Given the description of an element on the screen output the (x, y) to click on. 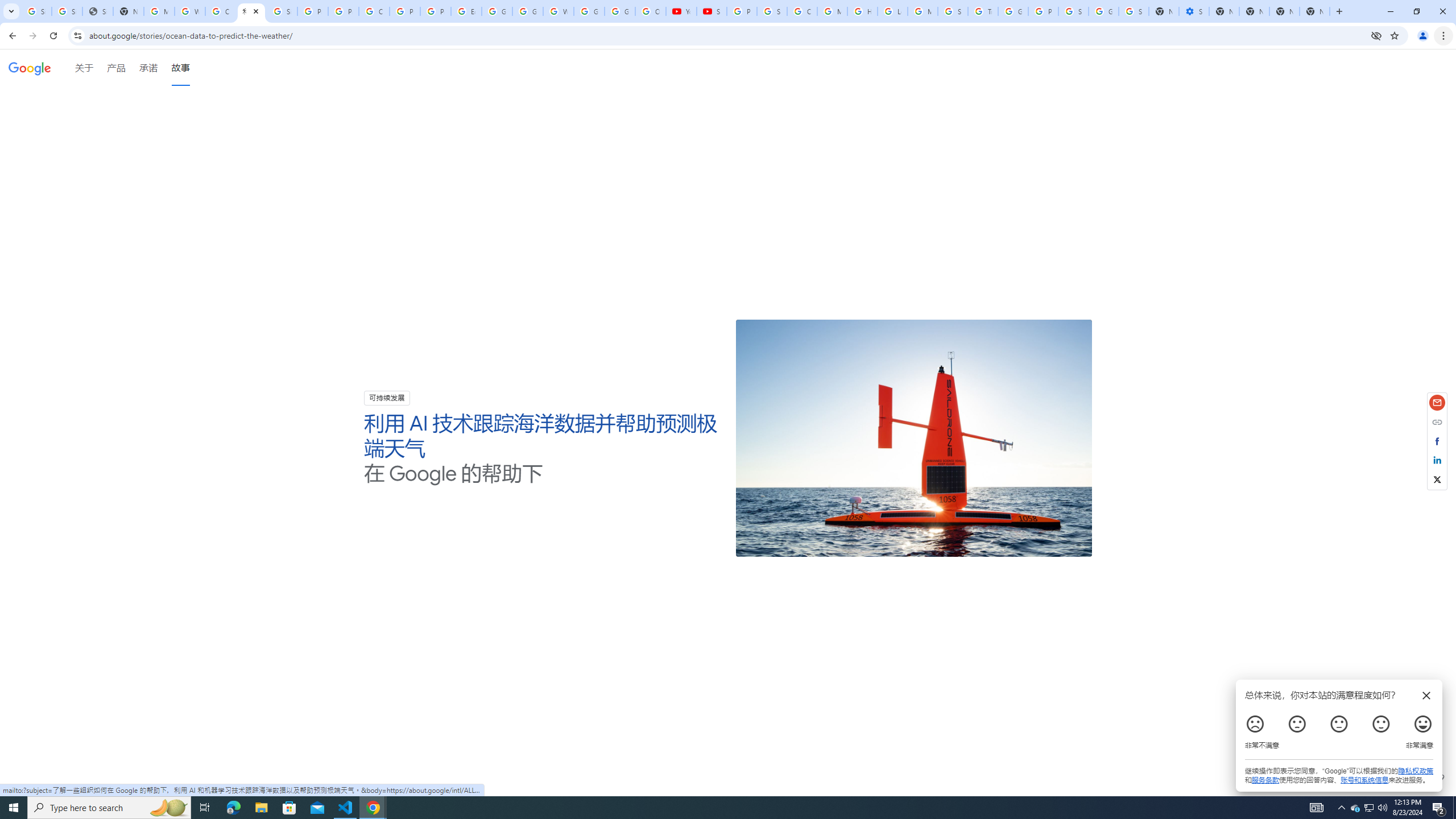
Google Cybersecurity Innovations - Google Safety Center (1103, 11)
Create your Google Account (373, 11)
Google Slides: Sign-in (496, 11)
Search our Doodle Library Collection - Google Doodles (952, 11)
Who is my administrator? - Google Account Help (189, 11)
Settings - Performance (1193, 11)
